Given the description of an element on the screen output the (x, y) to click on. 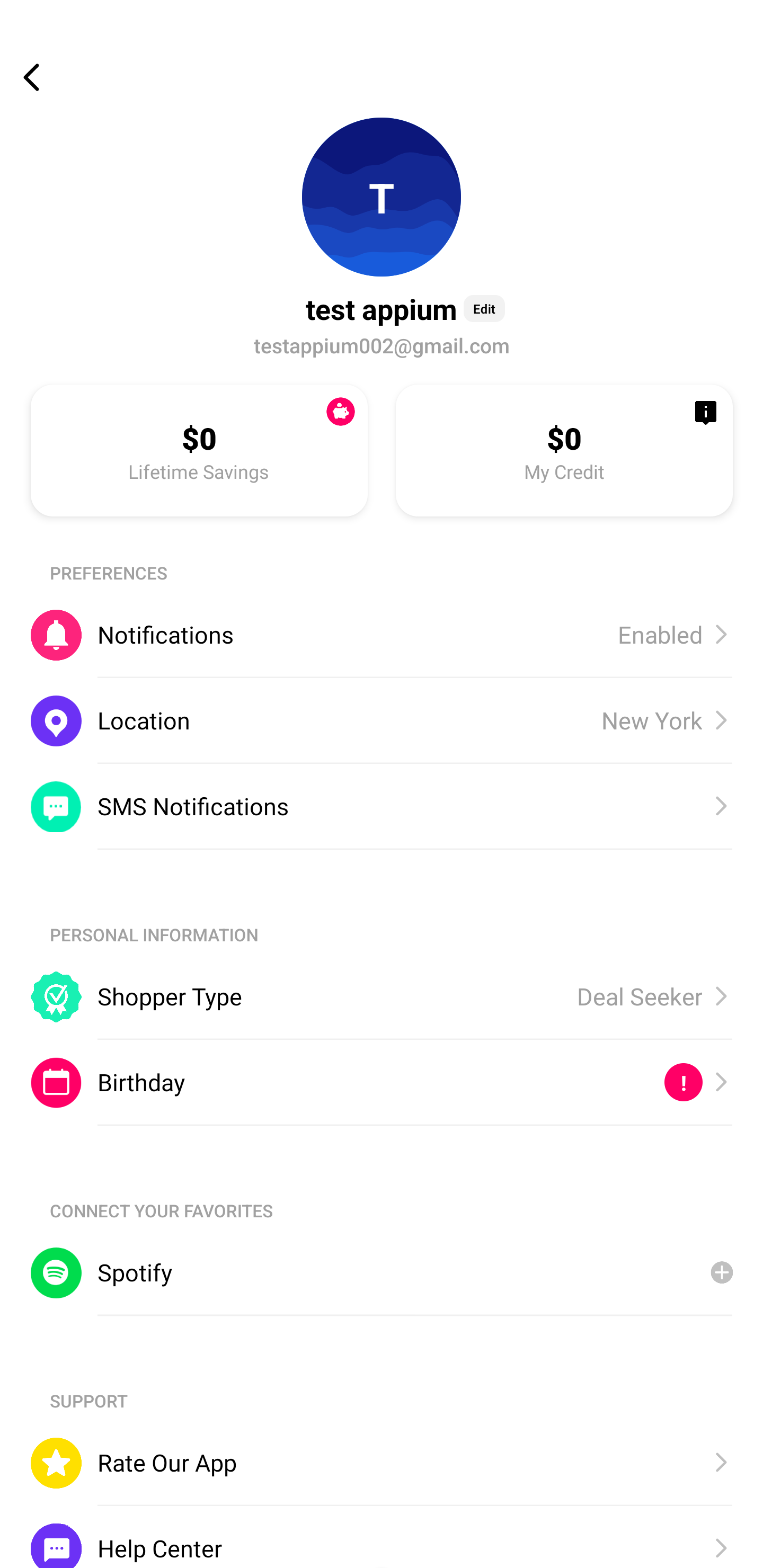
T (381, 196)
Edit (484, 307)
$0, Lifetime Savings $0 Lifetime Savings (198, 449)
$0, My Credit $0 My Credit (563, 449)
Location, New York Location New York (381, 720)
SMS Notifications,    SMS Notifications    (381, 806)
Shopper Type, Deal Seeker Shopper Type Deal Seeker (381, 996)
Birthday,   , ! Birthday    ! (381, 1082)
Spotify,    Spotify    (381, 1272)
Rate Our App,    Rate Our App    (381, 1462)
Help Center,    Help Center    (381, 1536)
